Given the description of an element on the screen output the (x, y) to click on. 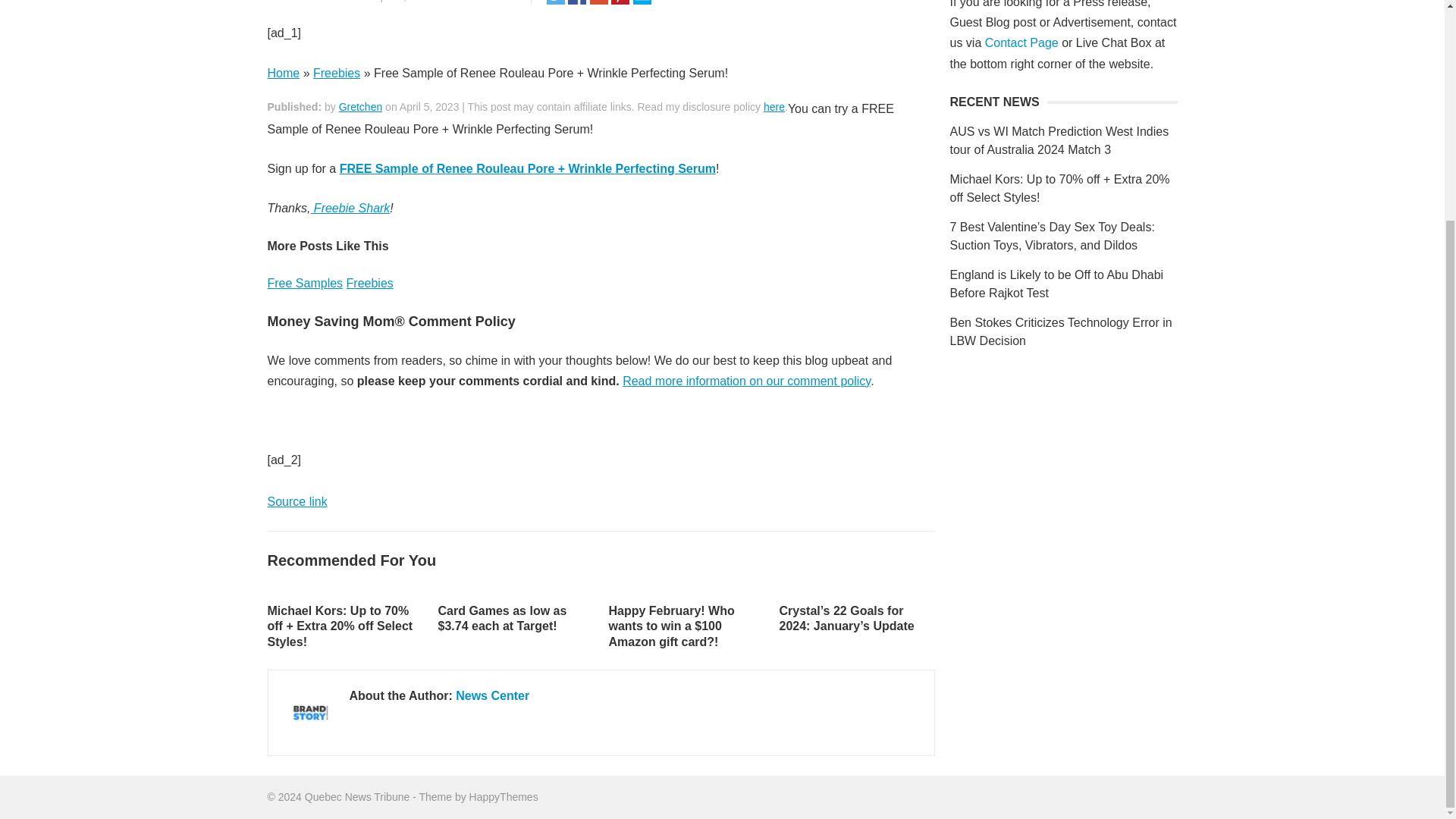
Posts by News Center (325, 1)
News Center (325, 1)
Home (282, 72)
